Given the description of an element on the screen output the (x, y) to click on. 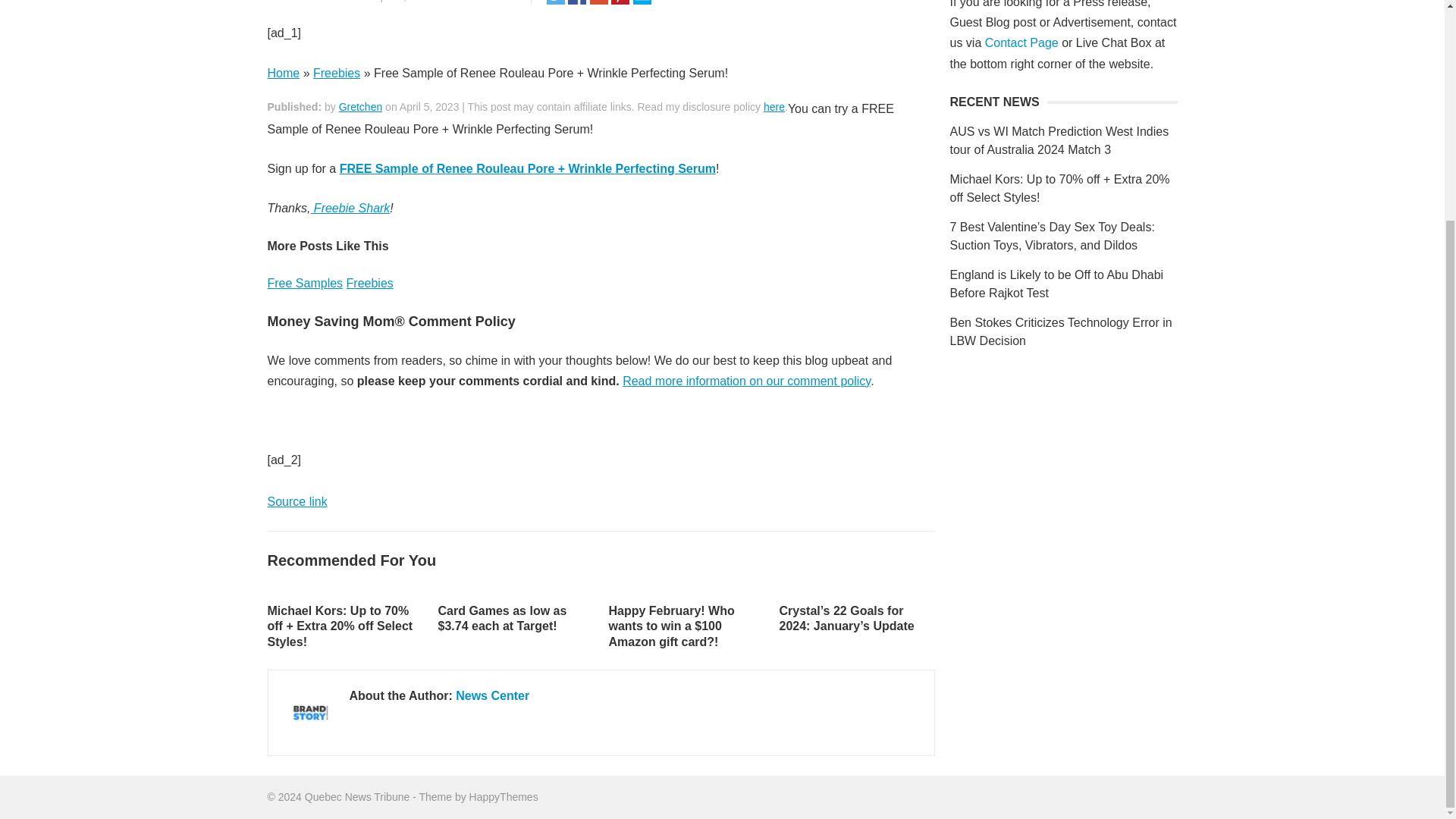
Posts by News Center (325, 1)
News Center (325, 1)
Home (282, 72)
